Given the description of an element on the screen output the (x, y) to click on. 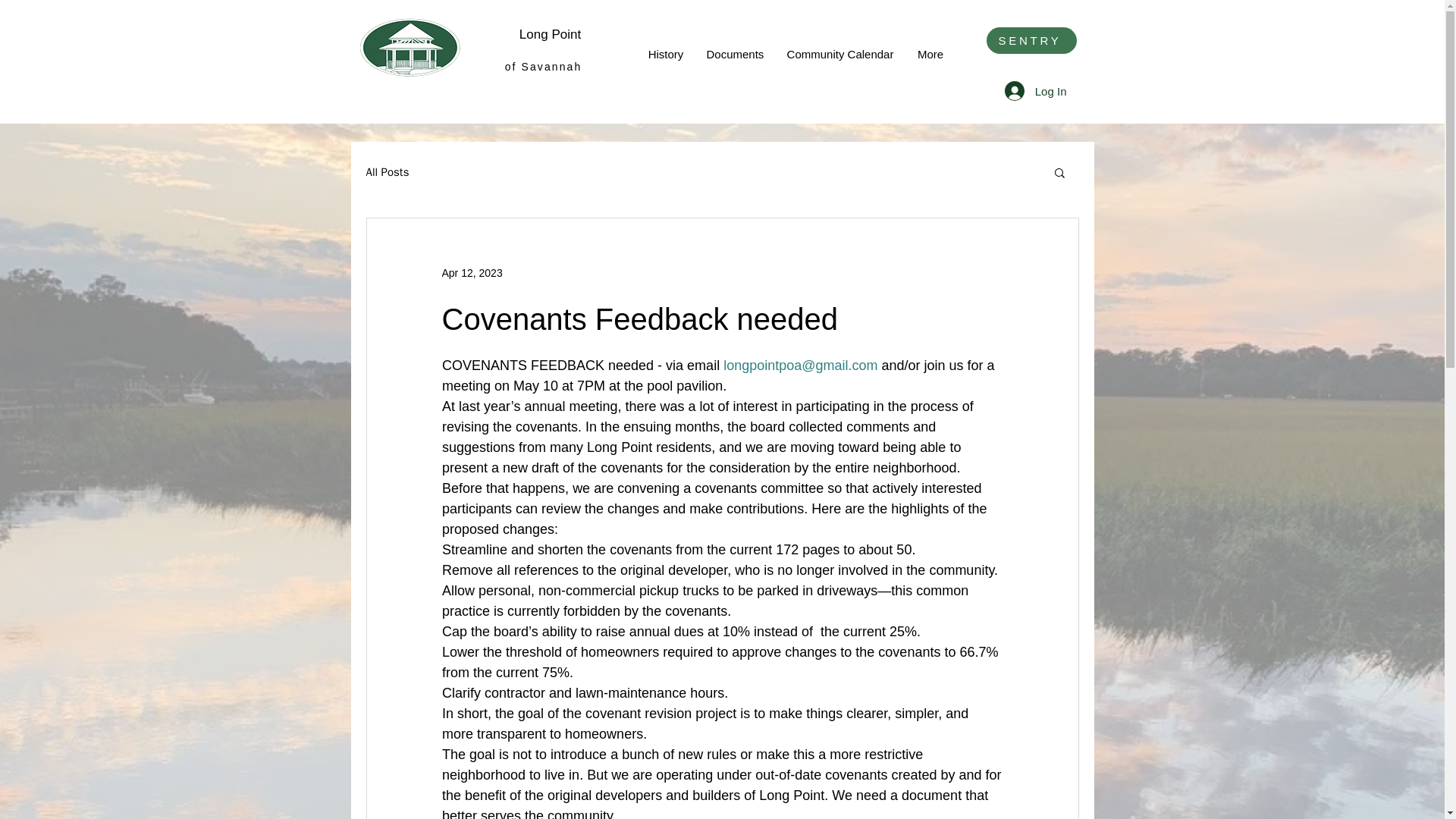
Log In (1035, 90)
Documents (734, 54)
Apr 12, 2023 (471, 272)
History (666, 54)
Long Point (549, 34)
Community Calendar (839, 54)
All Posts (387, 172)
SENTRY (1030, 40)
of Savannah (543, 66)
